Given the description of an element on the screen output the (x, y) to click on. 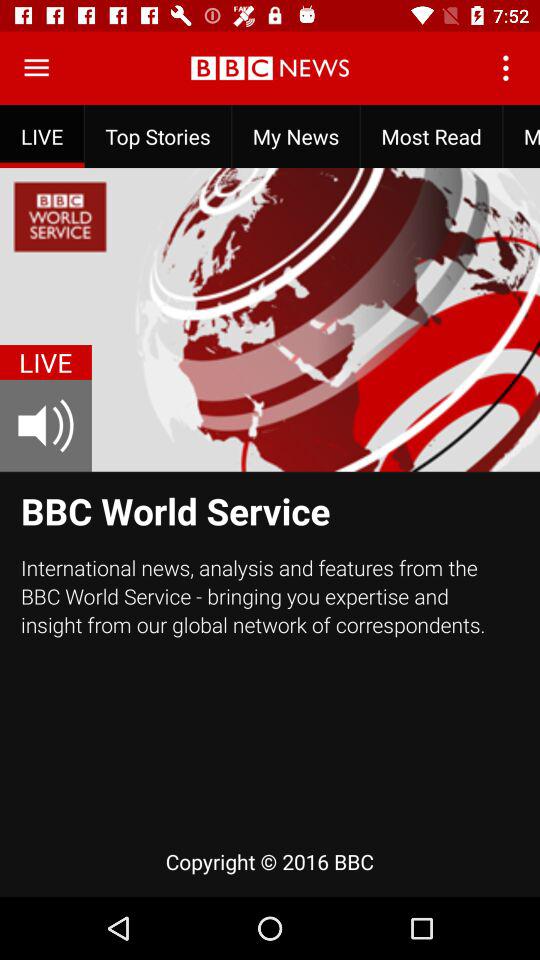
select the text top stories  which is right to live (158, 136)
click on my news (296, 136)
click on most read (431, 136)
